Given the description of an element on the screen output the (x, y) to click on. 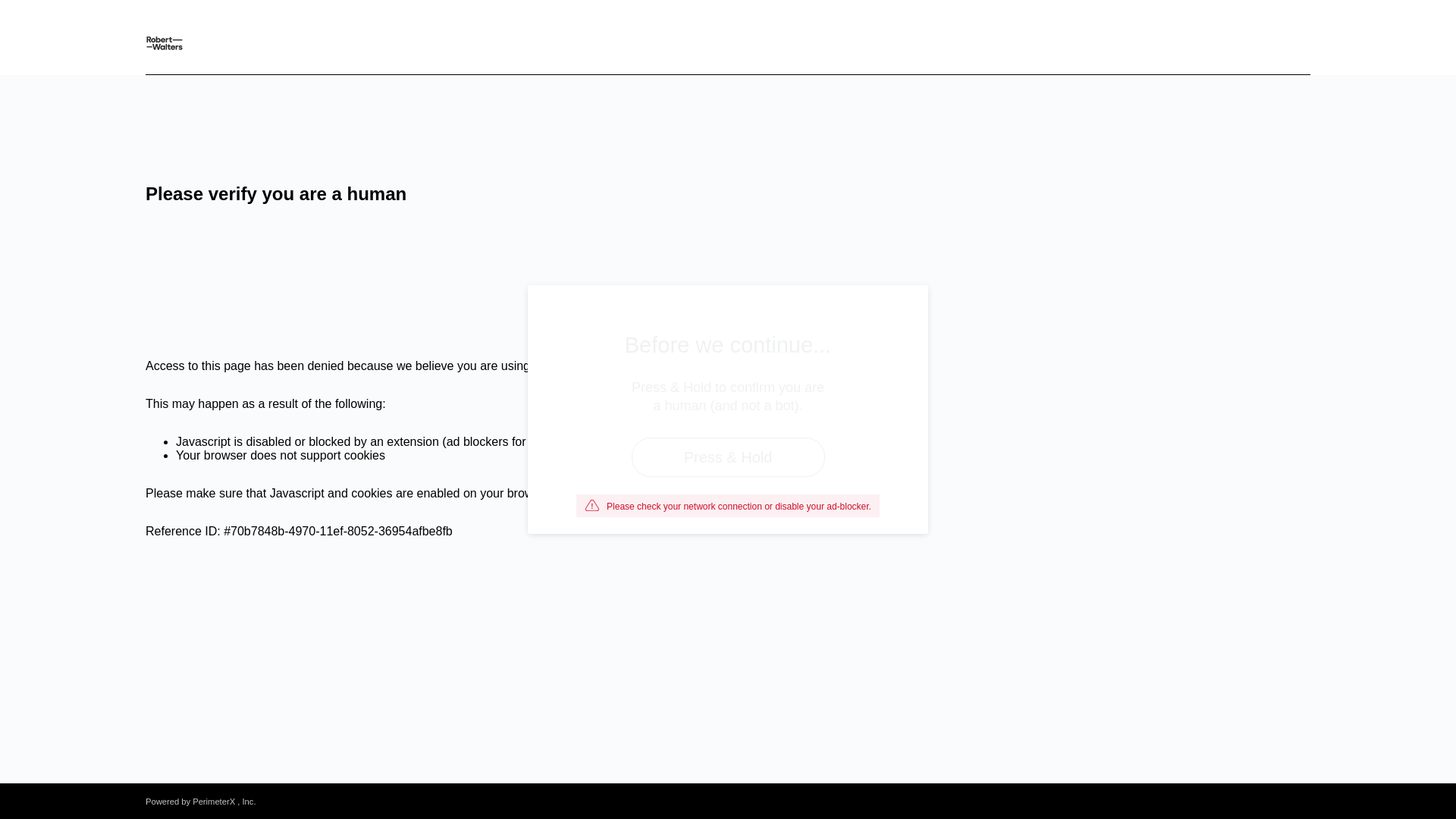
PerimeterX (213, 800)
